Given the description of an element on the screen output the (x, y) to click on. 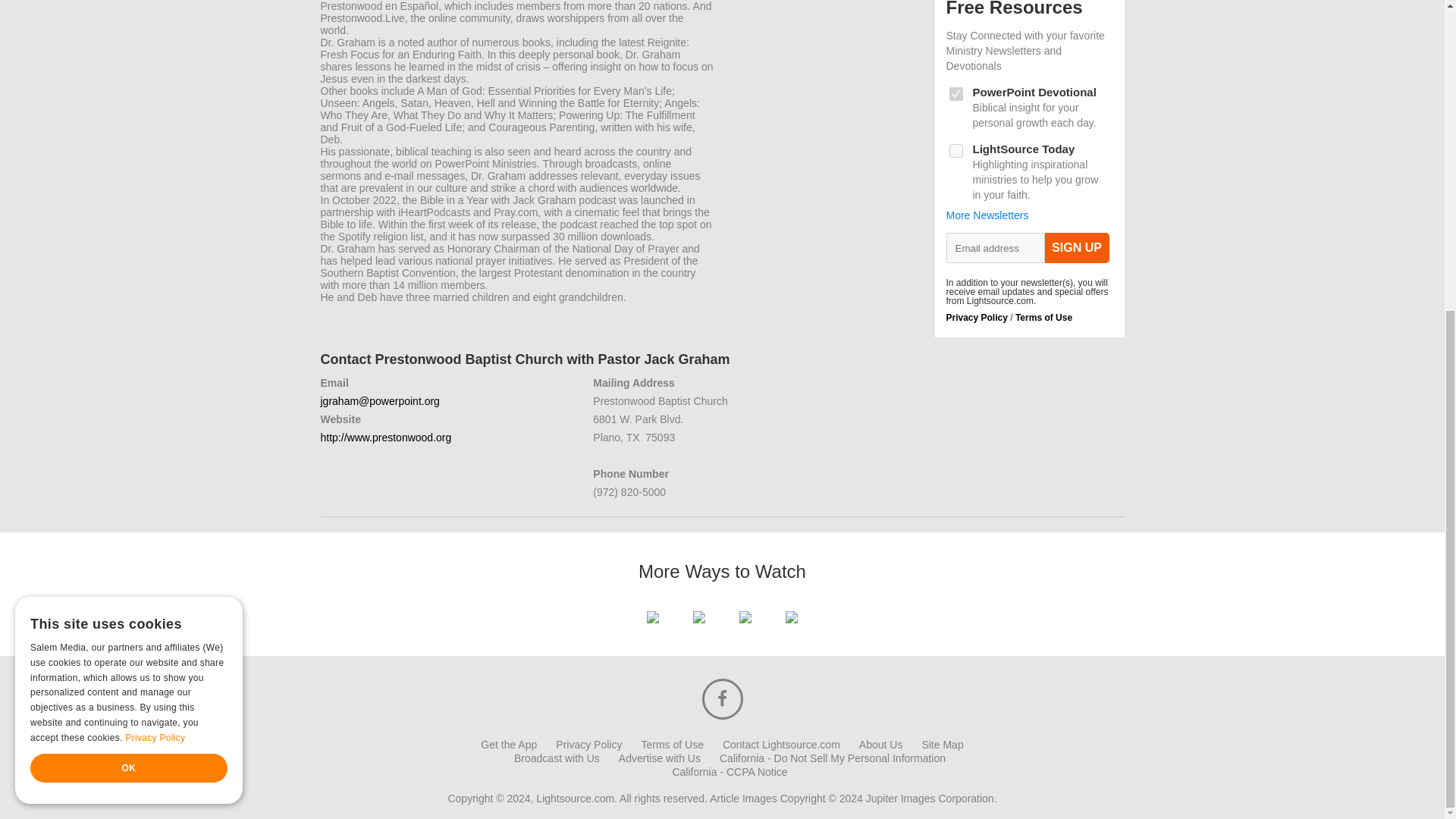
7291 (955, 151)
Privacy Policy (588, 744)
Get the App (508, 744)
Terms of Use (671, 744)
Privacy Policy (976, 317)
SIGN UP (1077, 247)
Site Map (941, 744)
About Us (880, 744)
More Newsletters (987, 214)
Terms of Use (1042, 317)
4487 (955, 93)
Contact Lightsource.com (781, 744)
